Given the description of an element on the screen output the (x, y) to click on. 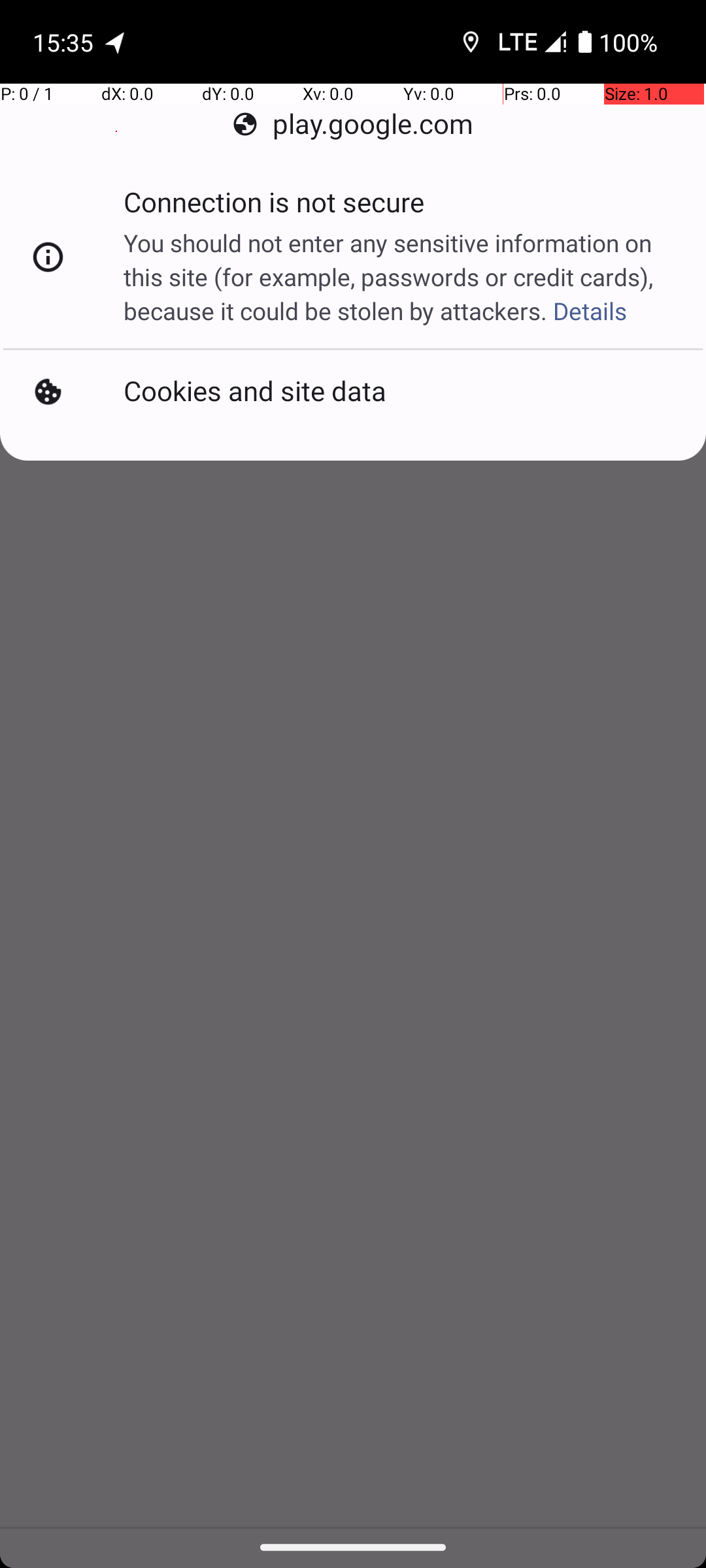
play.google.com Element type: android.widget.TextView (352, 124)
